Given the description of an element on the screen output the (x, y) to click on. 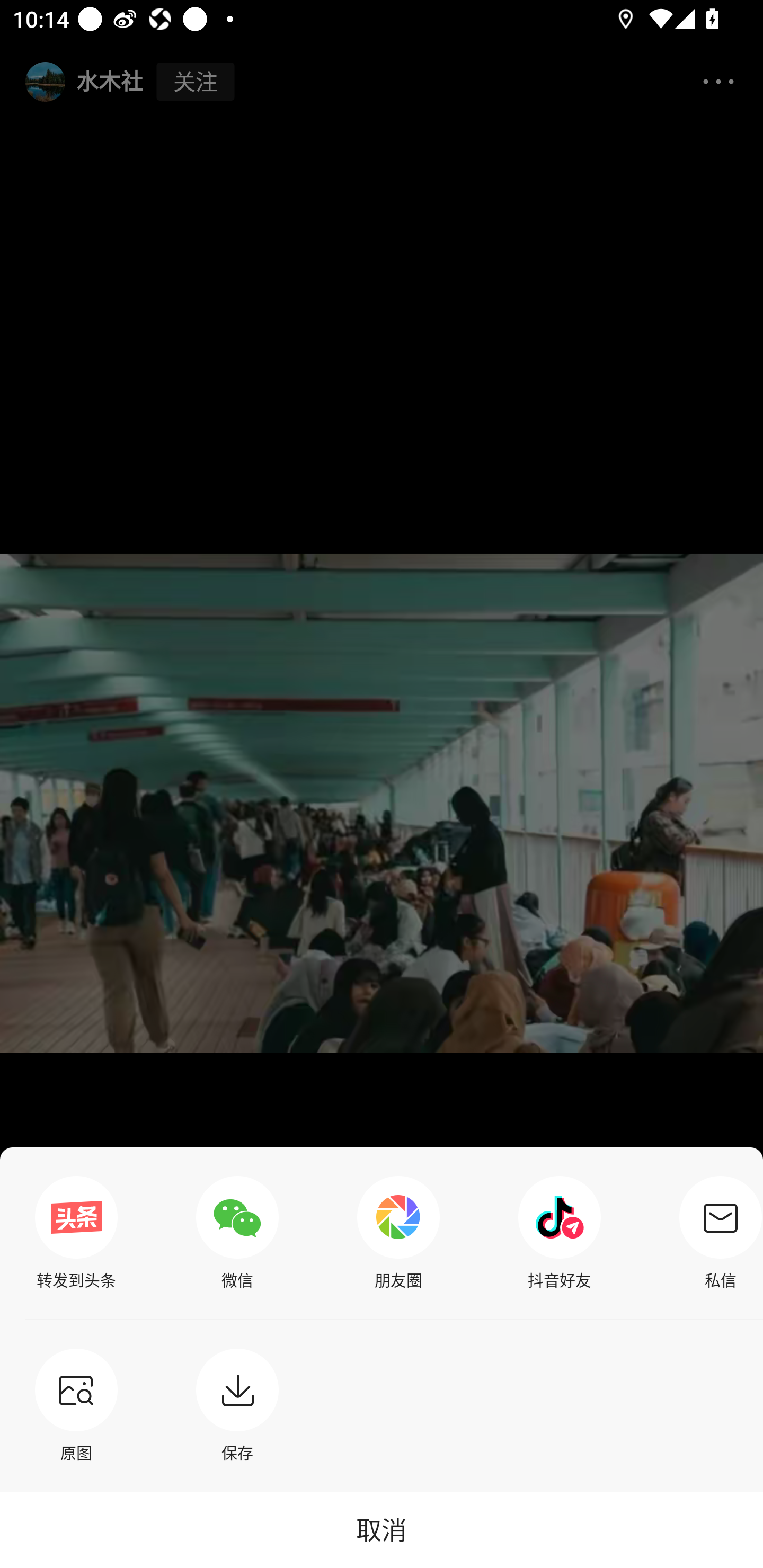
转发到头条 (76, 1232)
微信 (237, 1232)
朋友圈 (398, 1232)
抖音好友 (559, 1232)
私信 (716, 1232)
原图 (76, 1405)
保存 (237, 1405)
取消 (381, 1529)
